Given the description of an element on the screen output the (x, y) to click on. 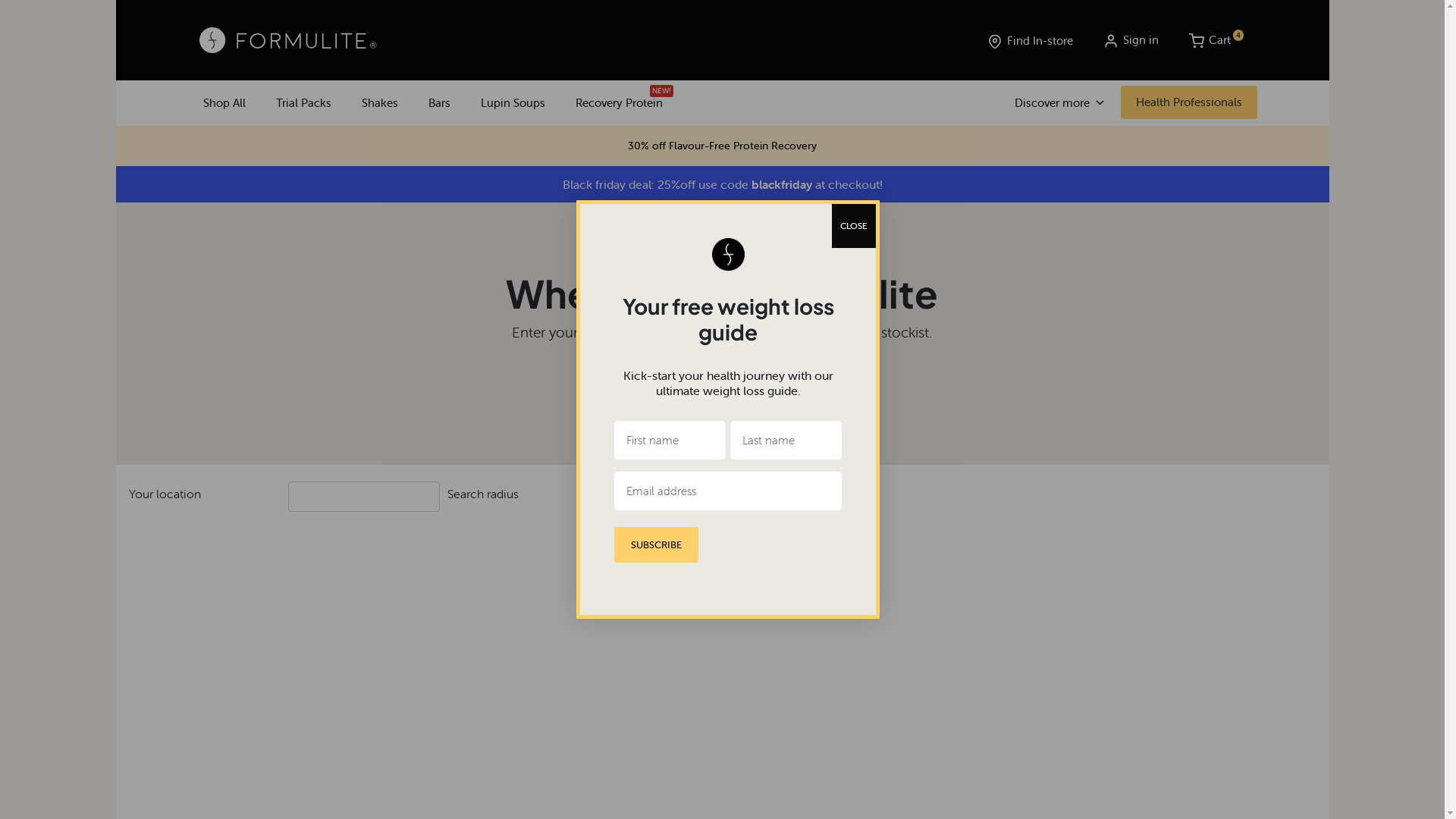
BUY ONLINE Element type: text (721, 397)
Health Professionals Element type: text (1188, 102)
Cart4 Element type: text (1209, 40)
Search Element type: text (641, 496)
Trial Packs Element type: text (303, 102)
Discover more Element type: text (1059, 102)
Recovery Protein
NEW! Element type: text (618, 102)
Shop All Element type: text (224, 102)
Find In-store Element type: text (1030, 40)
Sign in Element type: text (1130, 40)
Shakes Element type: text (378, 102)
Lupin Soups Element type: text (512, 102)
CLOSE Element type: text (853, 225)
Subscribe Element type: text (656, 544)
Bars Element type: text (438, 102)
